Given the description of an element on the screen output the (x, y) to click on. 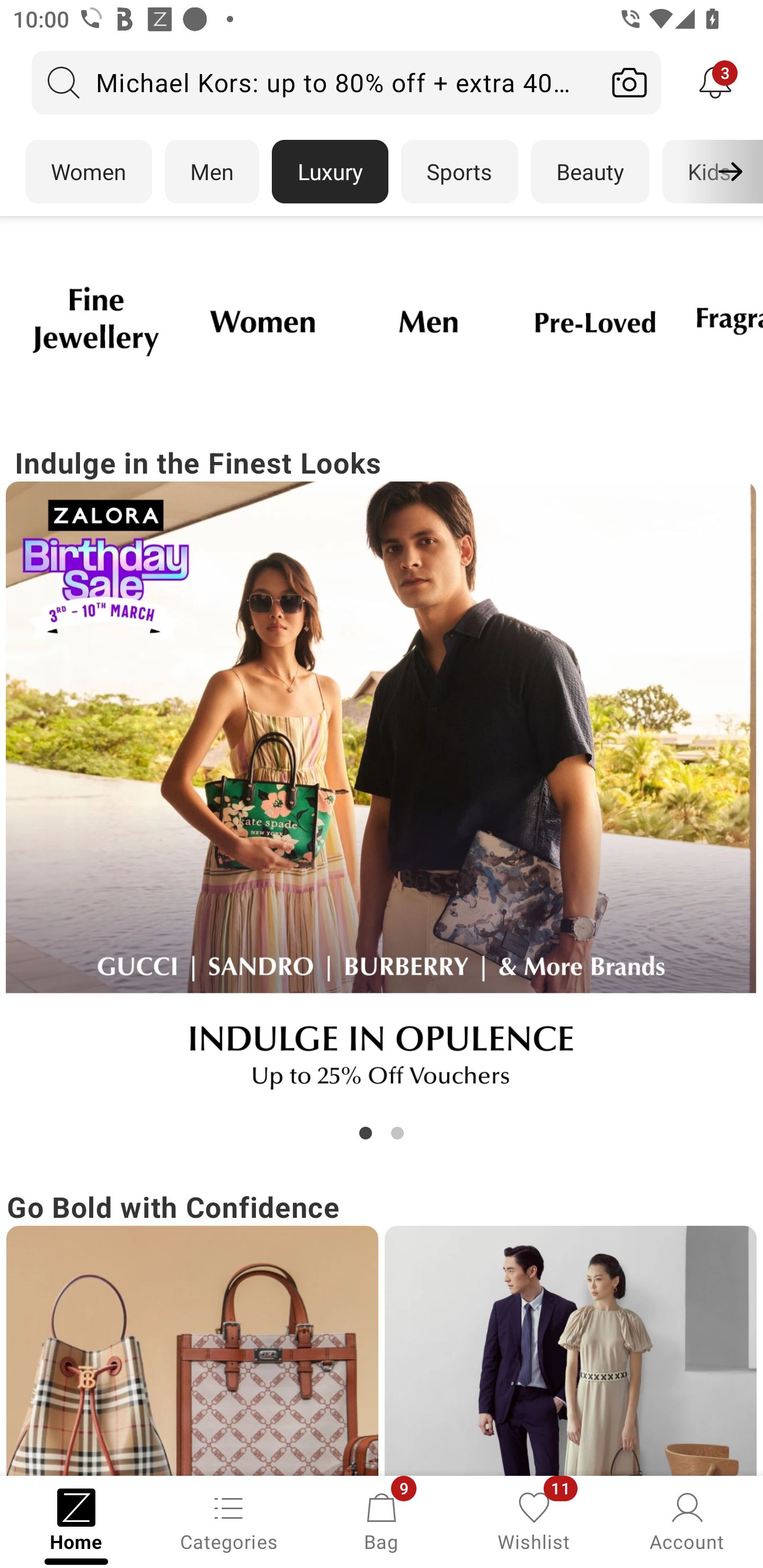
Michael Kors: up to 80% off + extra 40% off (314, 82)
Women (88, 171)
Men (211, 171)
Luxury (329, 171)
Sports (459, 171)
Beauty (590, 171)
Campaign banner (95, 321)
Campaign banner (261, 321)
Campaign banner (428, 321)
Campaign banner (594, 321)
 Indulge in the Finest Looks Campaign banner (381, 792)
Campaign banner (381, 797)
Campaign banner (192, 1350)
Campaign banner (570, 1350)
Categories (228, 1519)
Bag, 9 new notifications Bag (381, 1519)
Wishlist, 11 new notifications Wishlist (533, 1519)
Account (686, 1519)
